Given the description of an element on the screen output the (x, y) to click on. 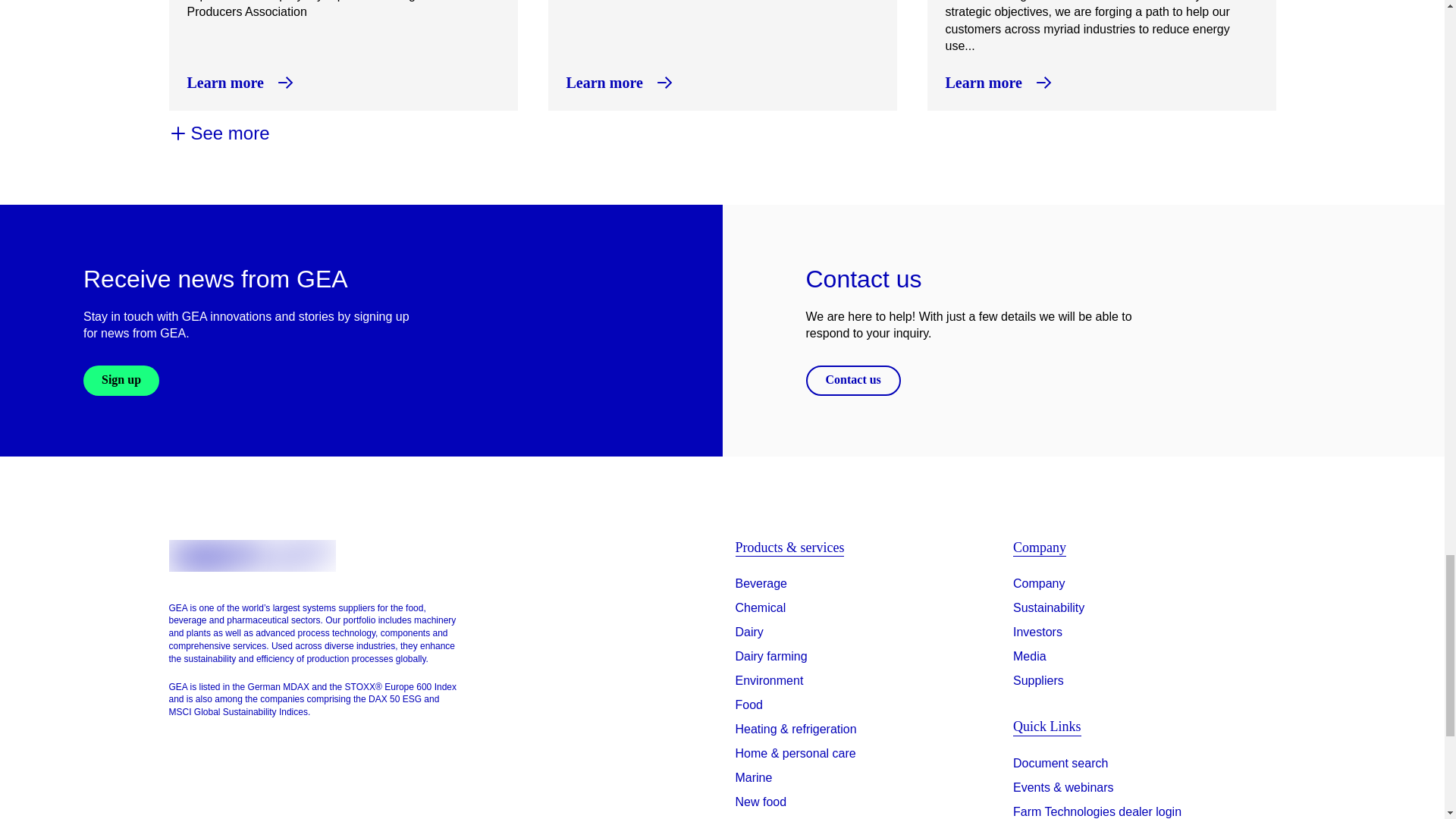
Company (1038, 583)
Media (1029, 656)
Suppliers (1038, 680)
Sustainability (1048, 607)
Investors (1037, 632)
Search (1060, 766)
